Given the description of an element on the screen output the (x, y) to click on. 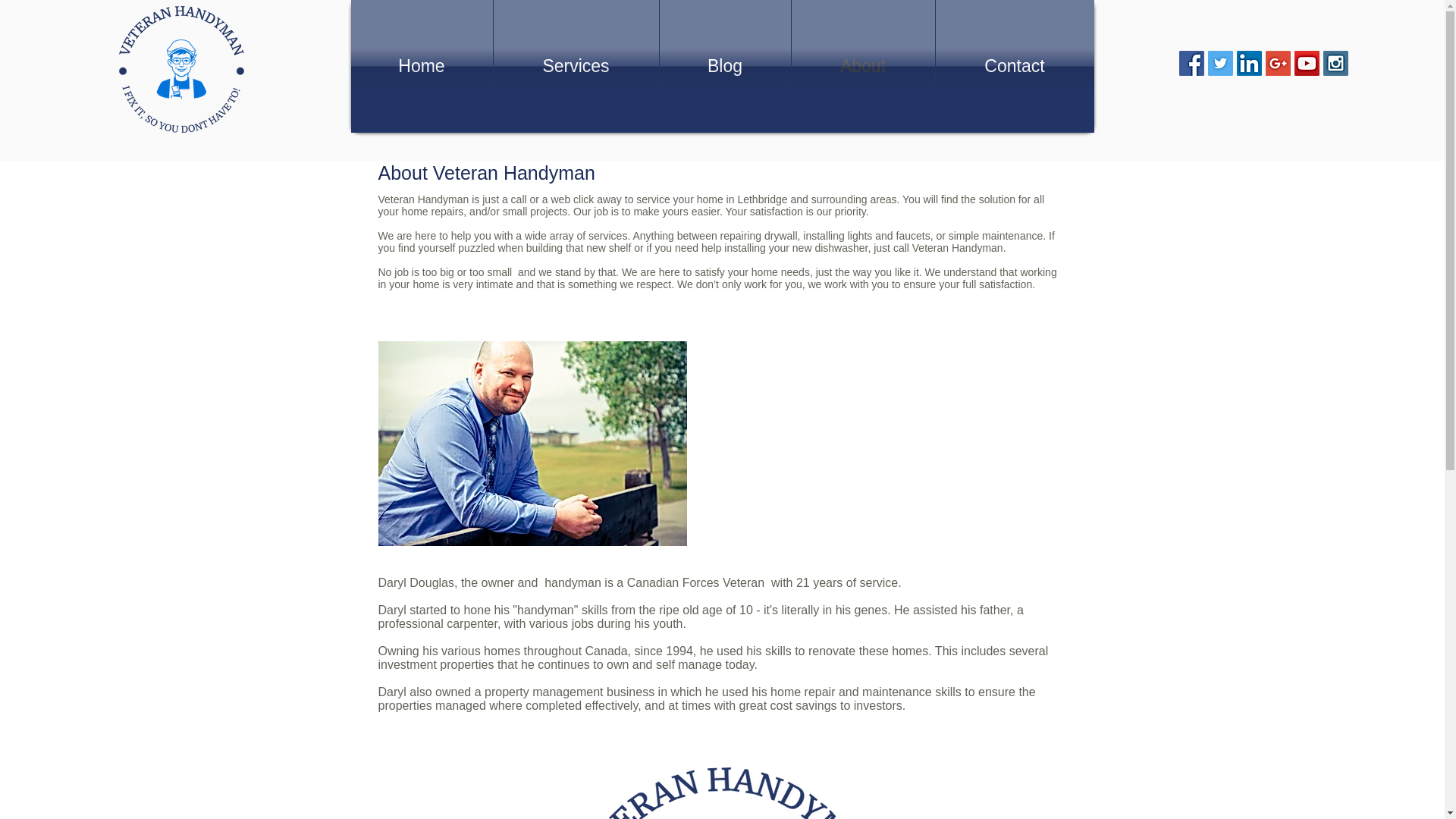
Contact (1015, 66)
About (863, 66)
Home (421, 66)
Blog (724, 66)
Services (575, 66)
